Given the description of an element on the screen output the (x, y) to click on. 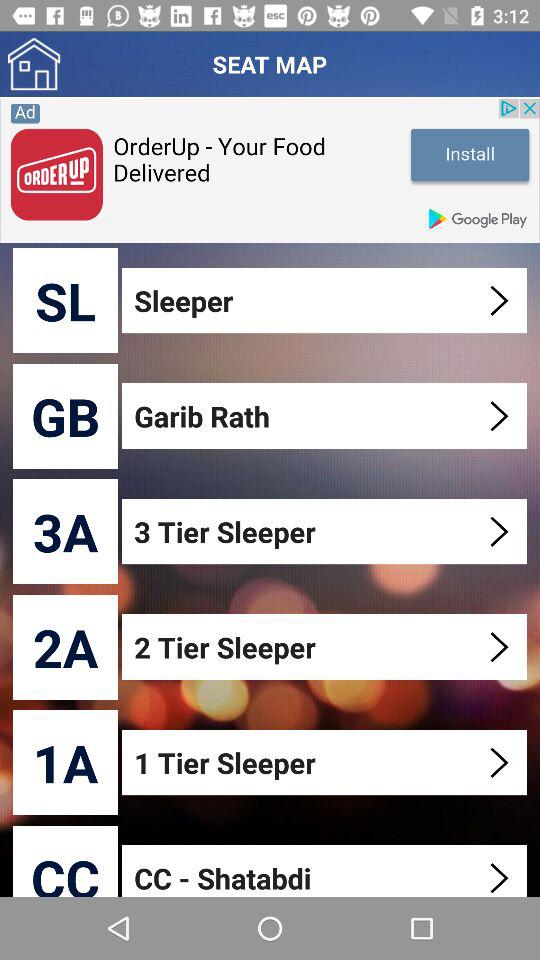
choose the item next to the 3 tier sleeper icon (65, 531)
